Given the description of an element on the screen output the (x, y) to click on. 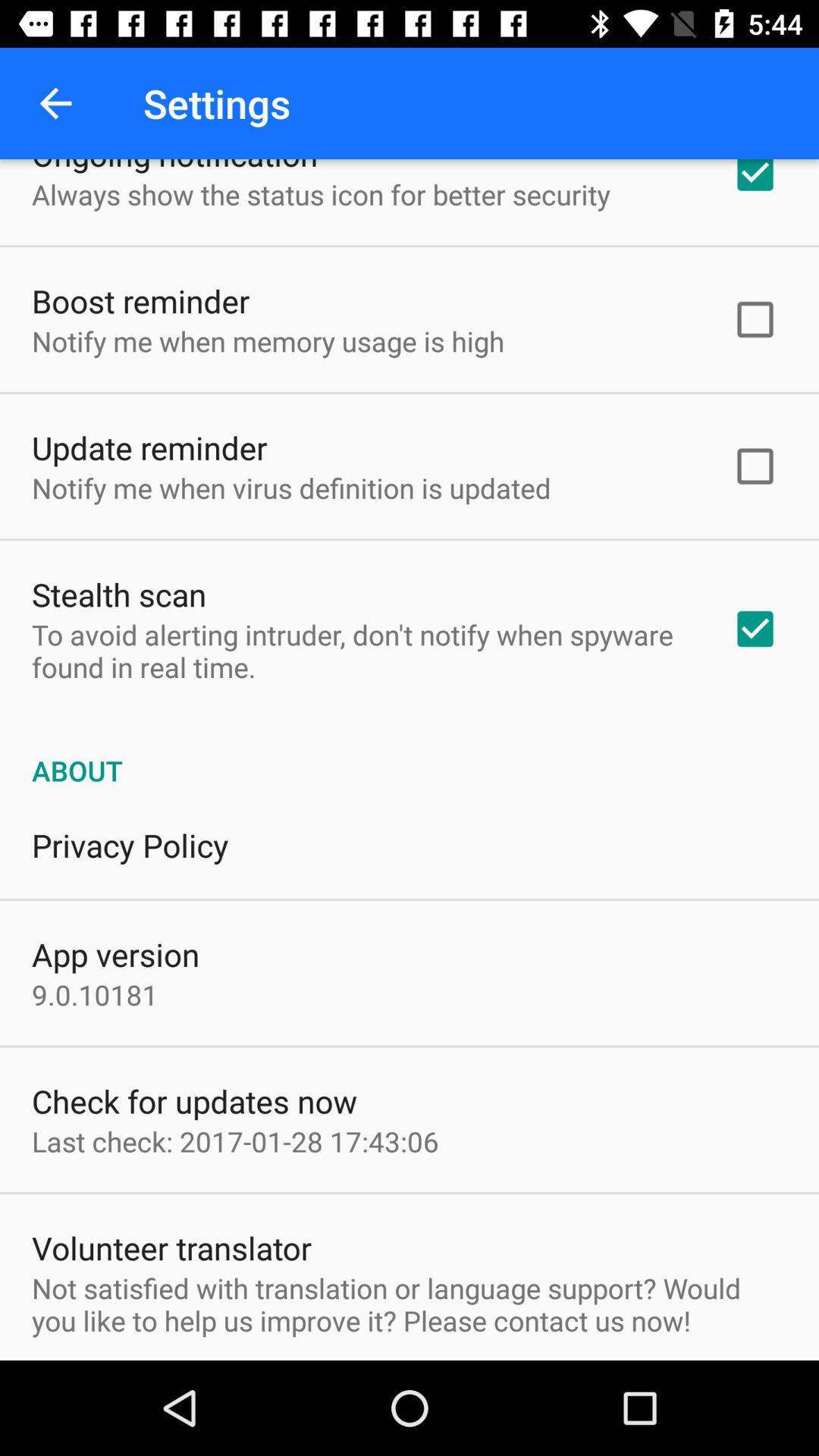
scroll to ongoing notification item (174, 167)
